Given the description of an element on the screen output the (x, y) to click on. 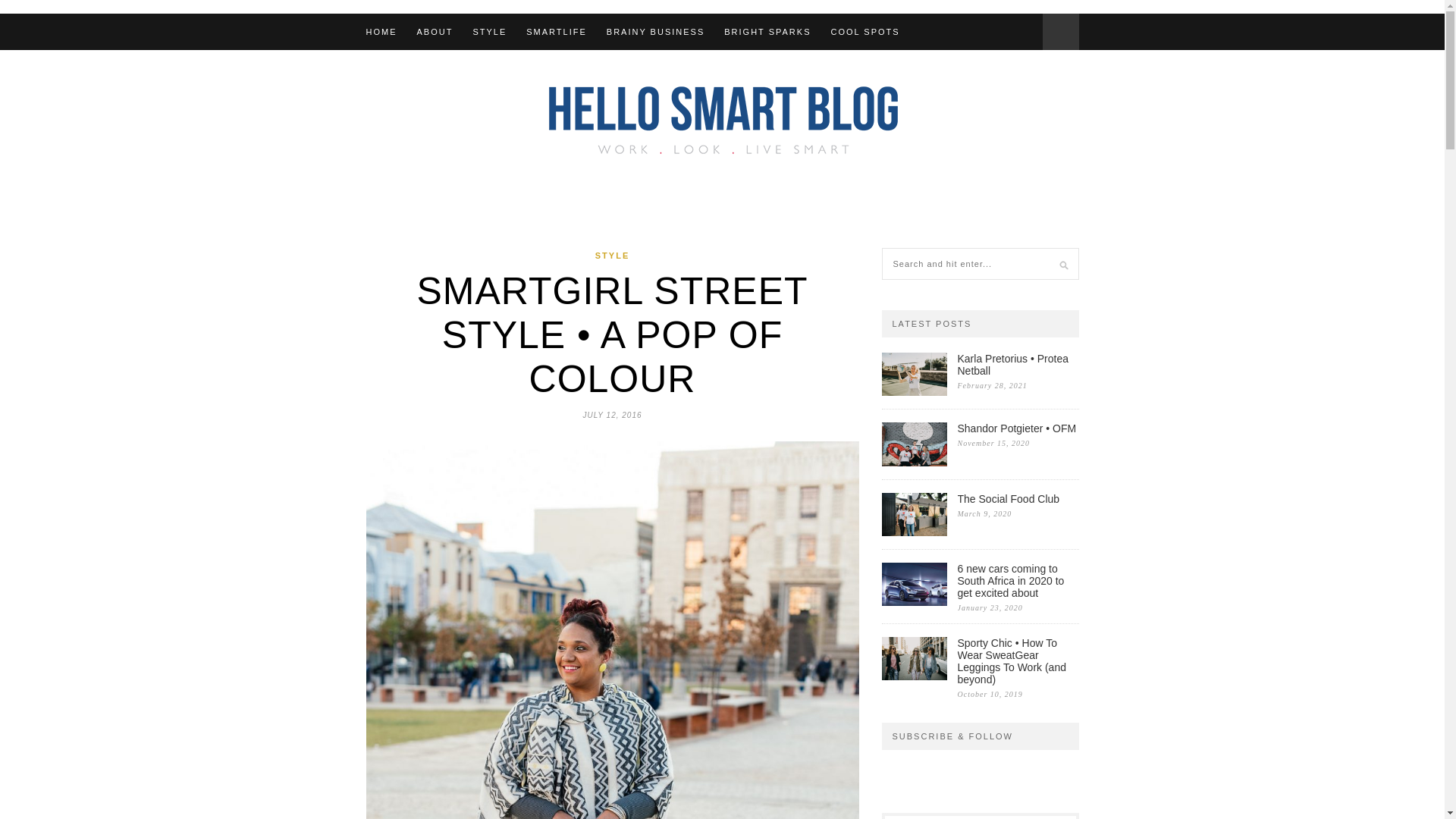
STYLE (488, 31)
BRIGHT SPARKS (766, 31)
Permanent Link: The Social Food Club (1017, 499)
STYLE (611, 255)
Permanent Link: The Social Food Club (913, 531)
SMARTLIFE (555, 31)
BRAINY BUSINESS (655, 31)
View all posts in Style (611, 255)
ABOUT (434, 31)
COOL SPOTS (864, 31)
